Given the description of an element on the screen output the (x, y) to click on. 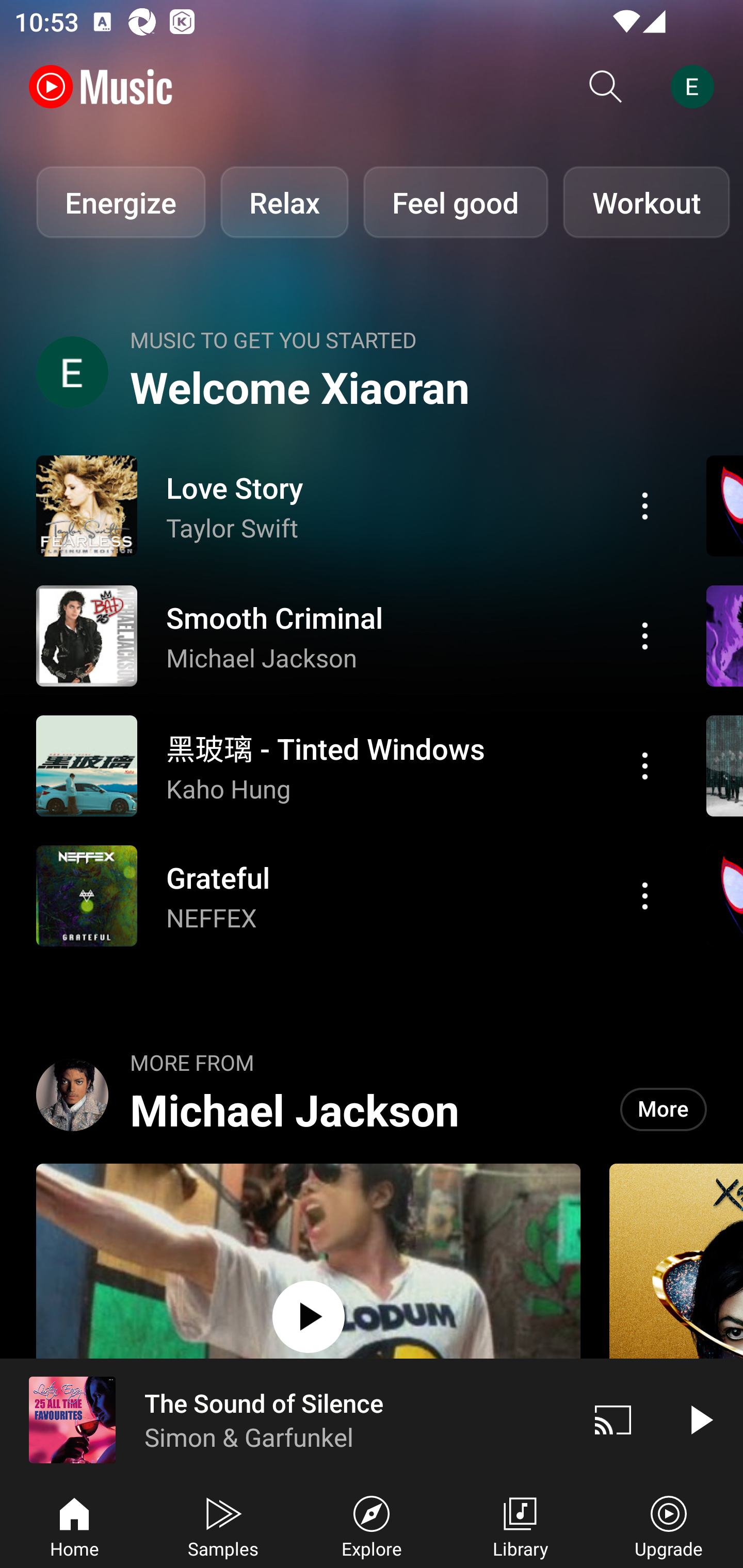
Search (605, 86)
Account (696, 86)
Action menu (349, 505)
Action menu (644, 505)
Action menu (349, 635)
Action menu (644, 635)
Action menu (349, 765)
Action menu (644, 765)
Action menu (349, 896)
Action menu (644, 896)
The Sound of Silence Simon & Garfunkel (284, 1419)
Cast. Disconnected (612, 1419)
Play video (699, 1419)
Home (74, 1524)
Samples (222, 1524)
Explore (371, 1524)
Library (519, 1524)
Upgrade (668, 1524)
